Given the description of an element on the screen output the (x, y) to click on. 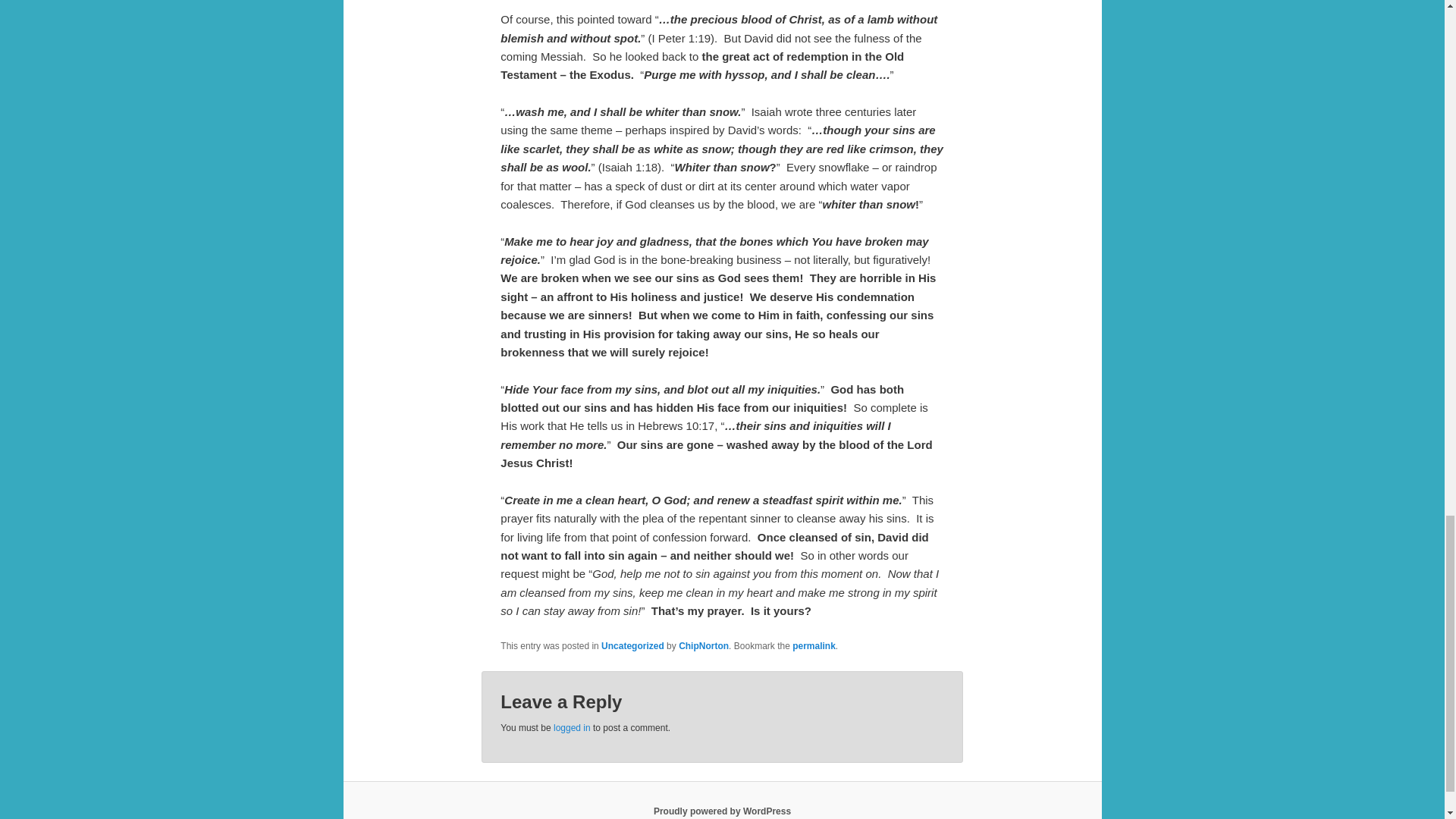
ChipNorton (703, 645)
Uncategorized (632, 645)
permalink (813, 645)
Semantic Personal Publishing Platform (721, 810)
logged in (572, 727)
Proudly powered by WordPress (721, 810)
